Given the description of an element on the screen output the (x, y) to click on. 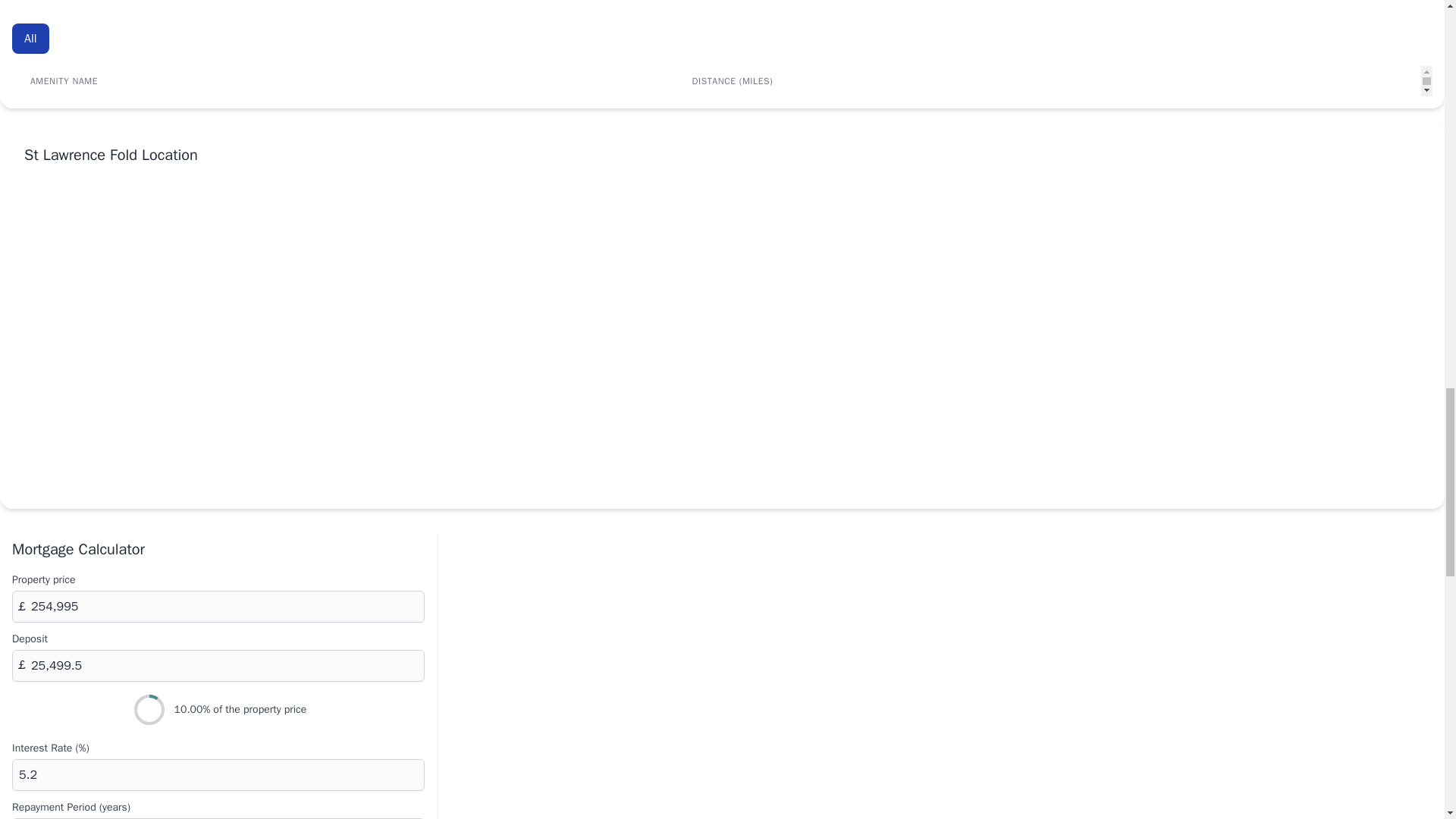
25,499.5 (218, 665)
254,995 (218, 606)
5.2 (218, 775)
All (30, 38)
